Given the description of an element on the screen output the (x, y) to click on. 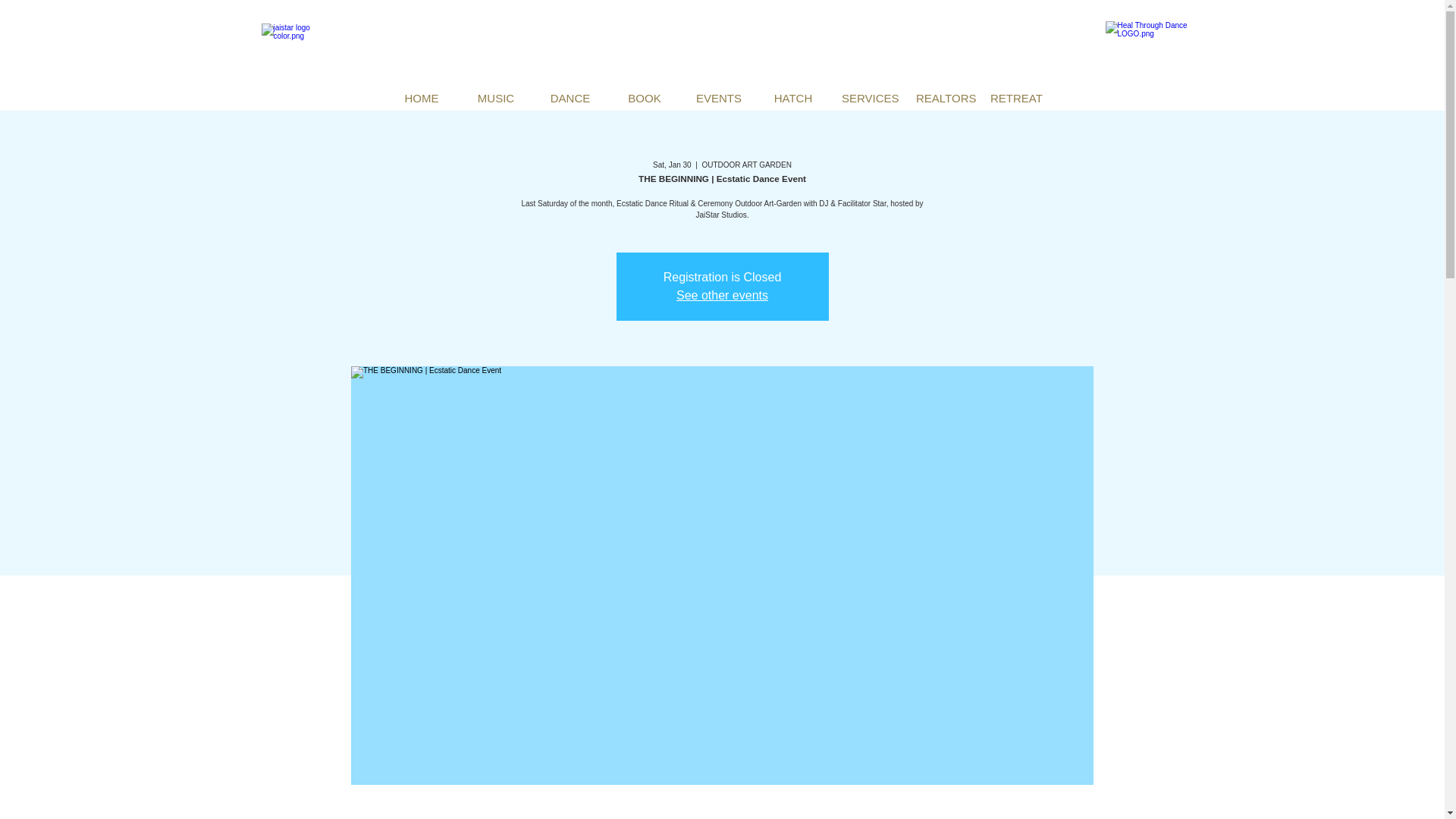
See other events (722, 295)
HOME (421, 97)
SERVICES (866, 97)
RETREAT (1015, 97)
BOOK (644, 97)
HATCH (792, 97)
EVENTS (718, 97)
MUSIC (495, 97)
REALTORS (941, 97)
DANCE (569, 97)
